Given the description of an element on the screen output the (x, y) to click on. 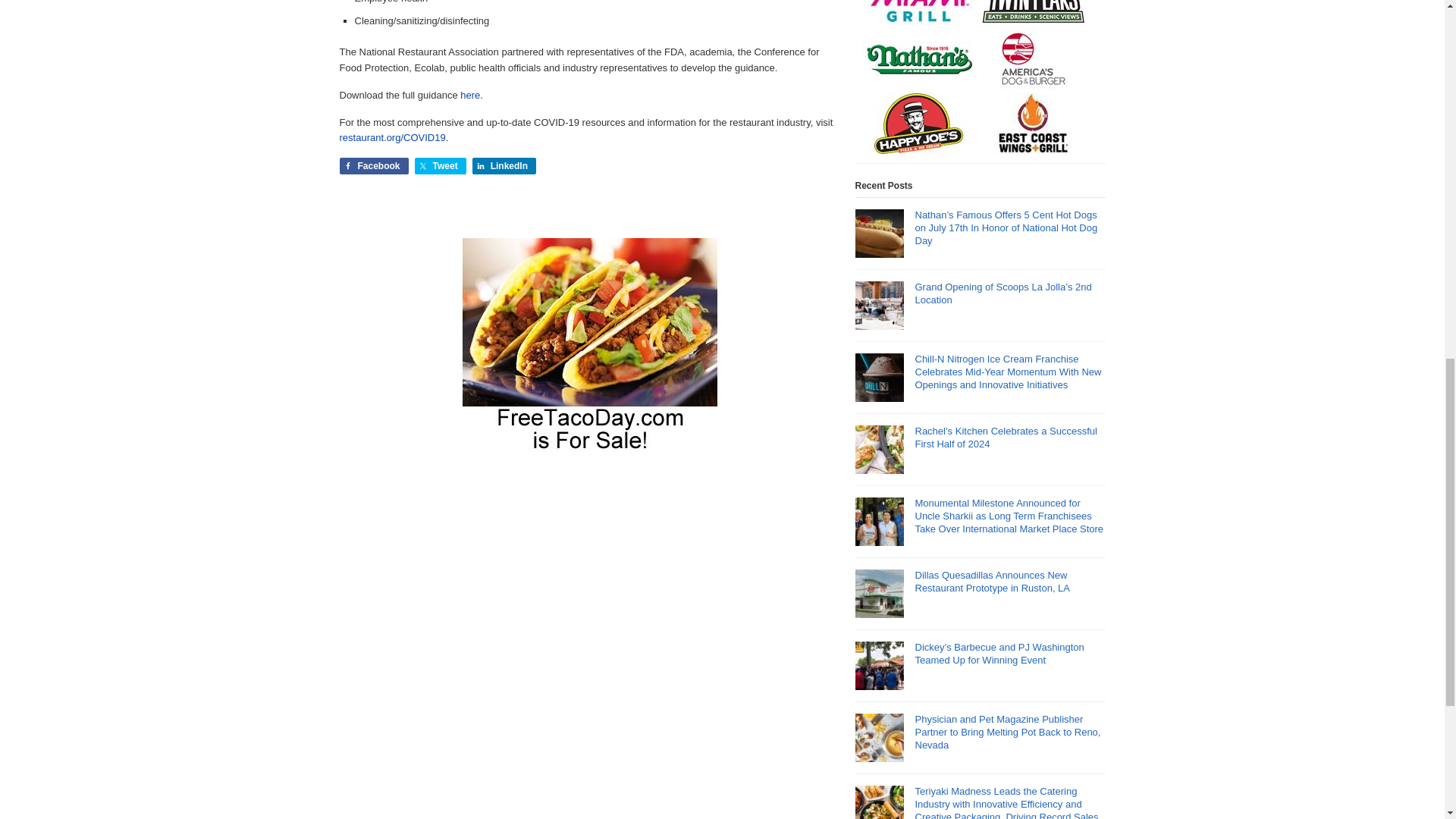
Share on LinkedIn (503, 166)
Tweet (439, 166)
Share on Twitter (439, 166)
here (470, 94)
Facebook (374, 166)
Share on Facebook (374, 166)
FreeTacoDay.com is For Sale (590, 446)
LinkedIn (503, 166)
